Given the description of an element on the screen output the (x, y) to click on. 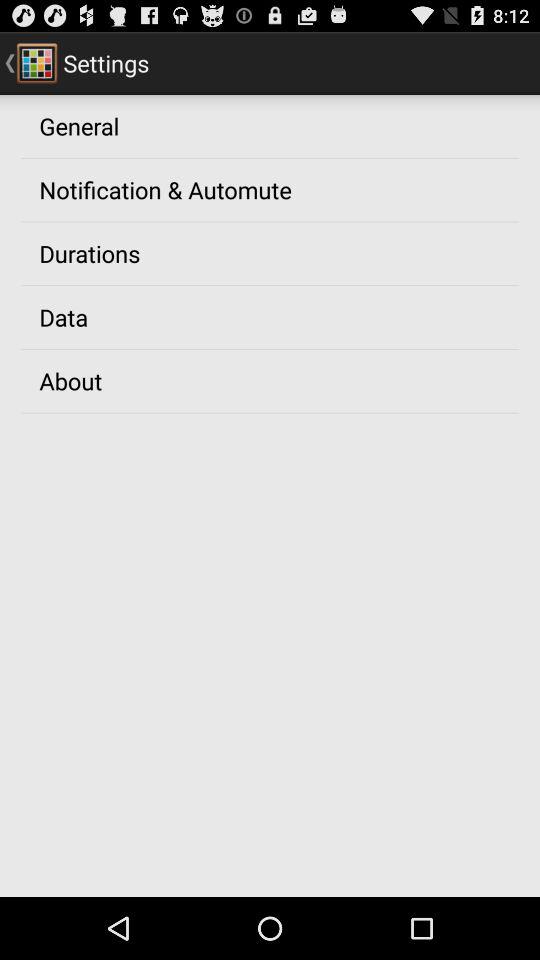
choose the durations item (89, 253)
